Given the description of an element on the screen output the (x, y) to click on. 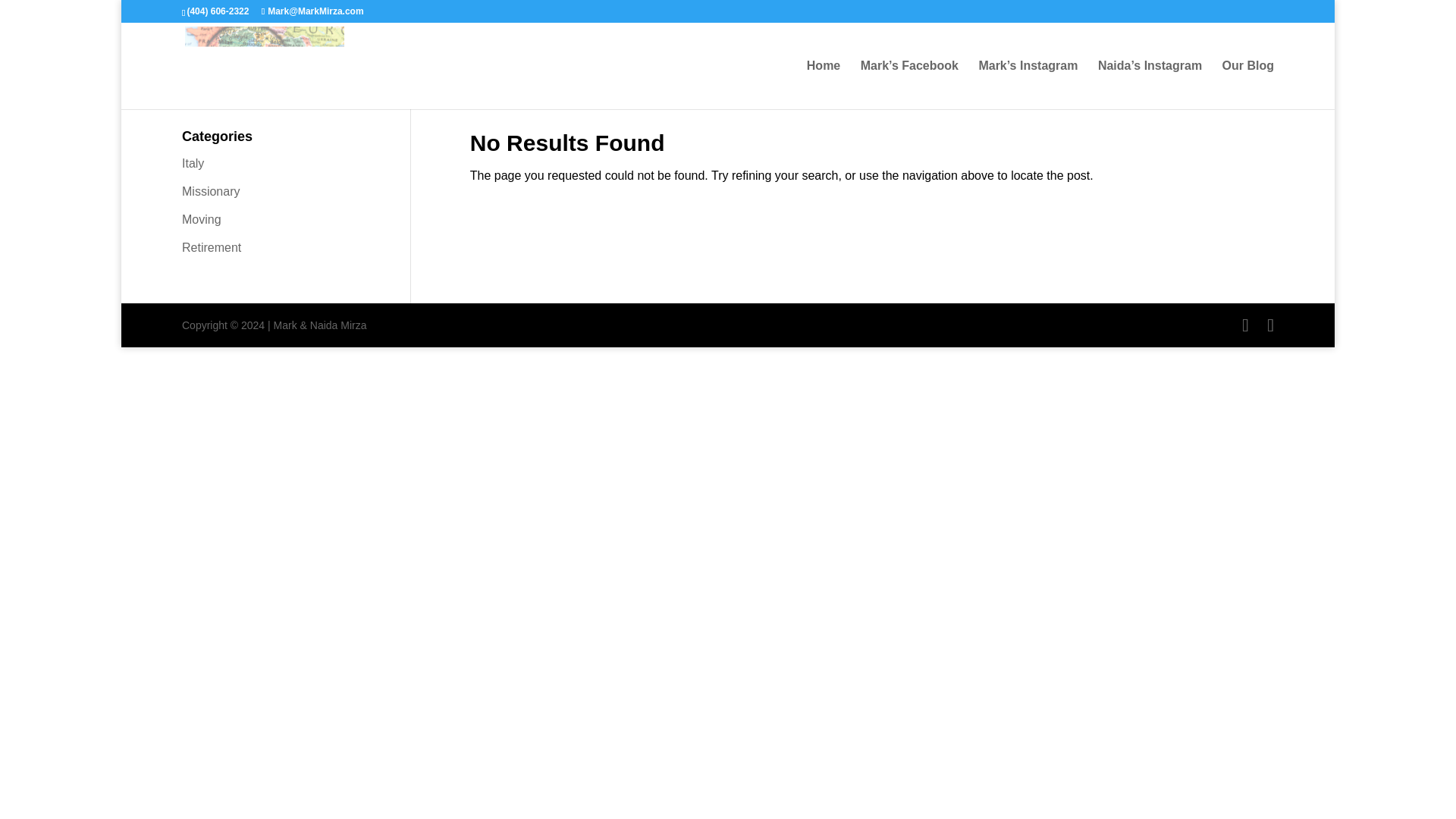
Missionary (211, 191)
Italy (192, 163)
Our Blog (1248, 84)
Moving (201, 219)
Retirement (211, 246)
